Given the description of an element on the screen output the (x, y) to click on. 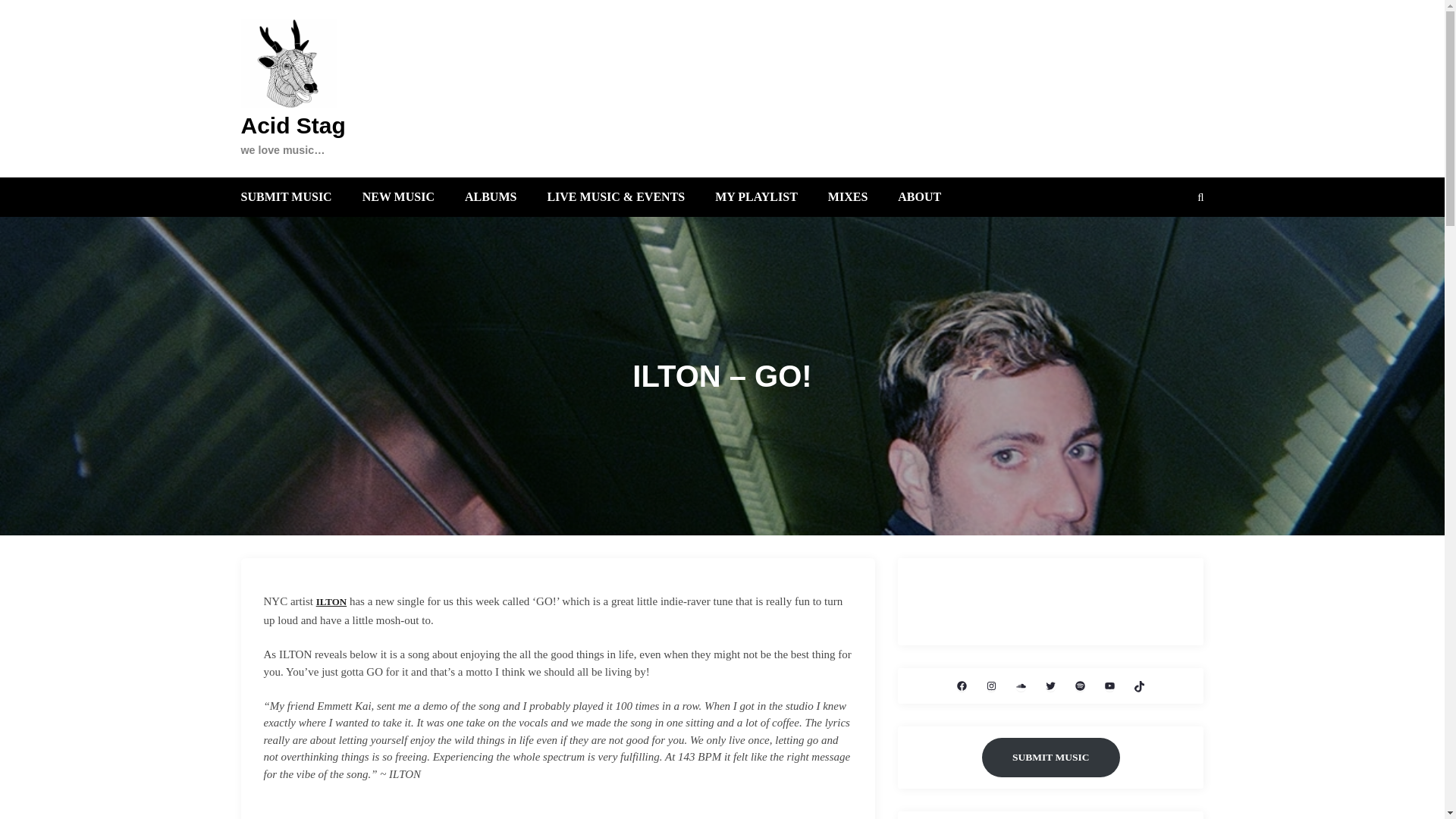
ILTON (330, 601)
ABOUT (919, 196)
SUBMIT MUSIC (286, 196)
NEW MUSIC (397, 196)
MIXES (847, 196)
ALBUMS (490, 196)
Facebook (962, 685)
MY PLAYLIST (755, 196)
Instagram (991, 685)
Acid Stag (293, 125)
